Given the description of an element on the screen output the (x, y) to click on. 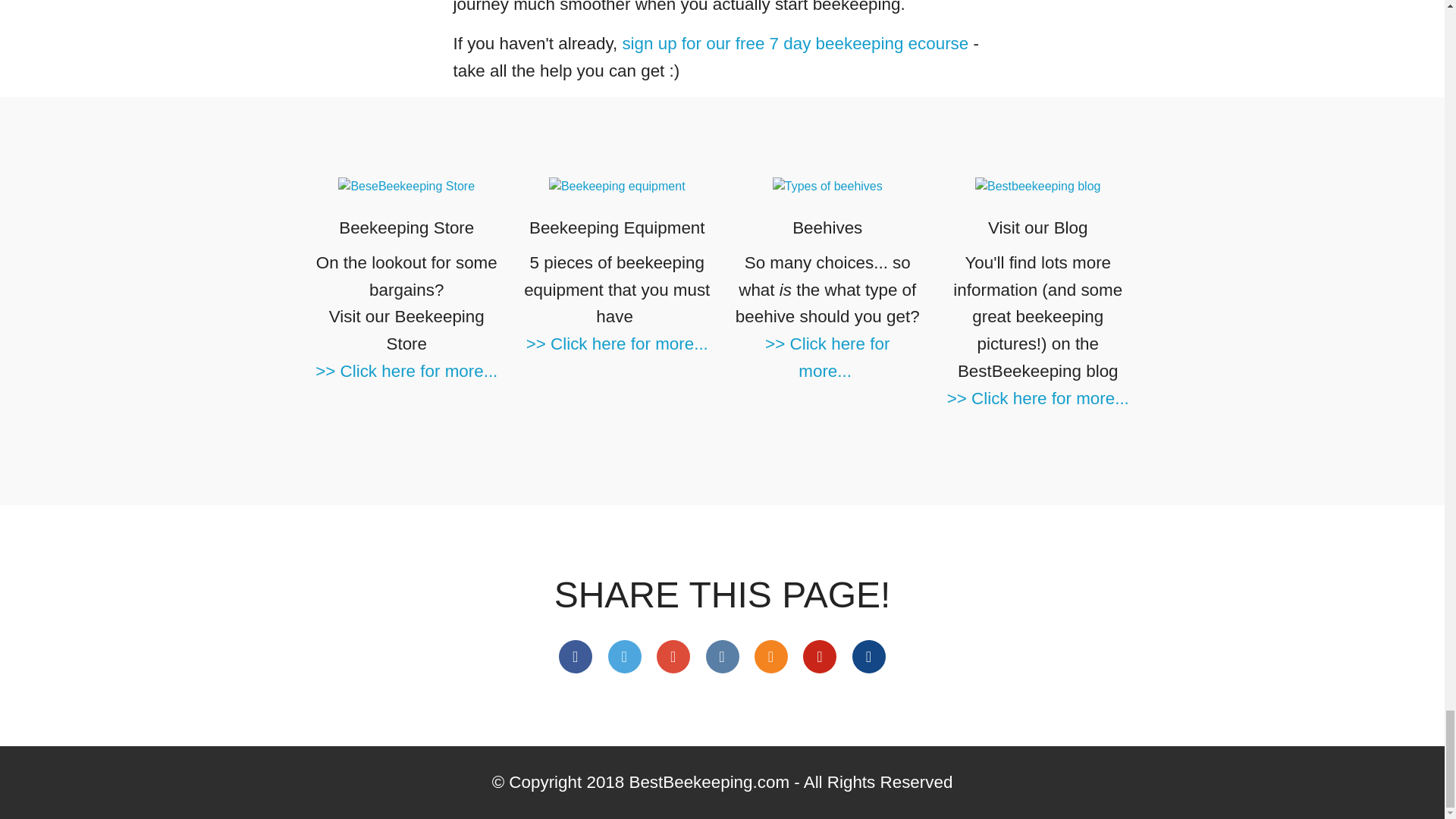
Share link on Twitter (625, 656)
Share link on Pinterest (819, 656)
Beekeeping equipment needed (616, 186)
Share link on VKontakte (721, 656)
Share link on Facebook (575, 656)
Beekeeping blog (1037, 186)
Beekeeping store (405, 186)
sign up for our free 7 day beekeeping ecourse (794, 43)
Which Beehive? (827, 186)
Share link on Odnoklassniki (770, 656)
Share link on Mailru (868, 656)
